Given the description of an element on the screen output the (x, y) to click on. 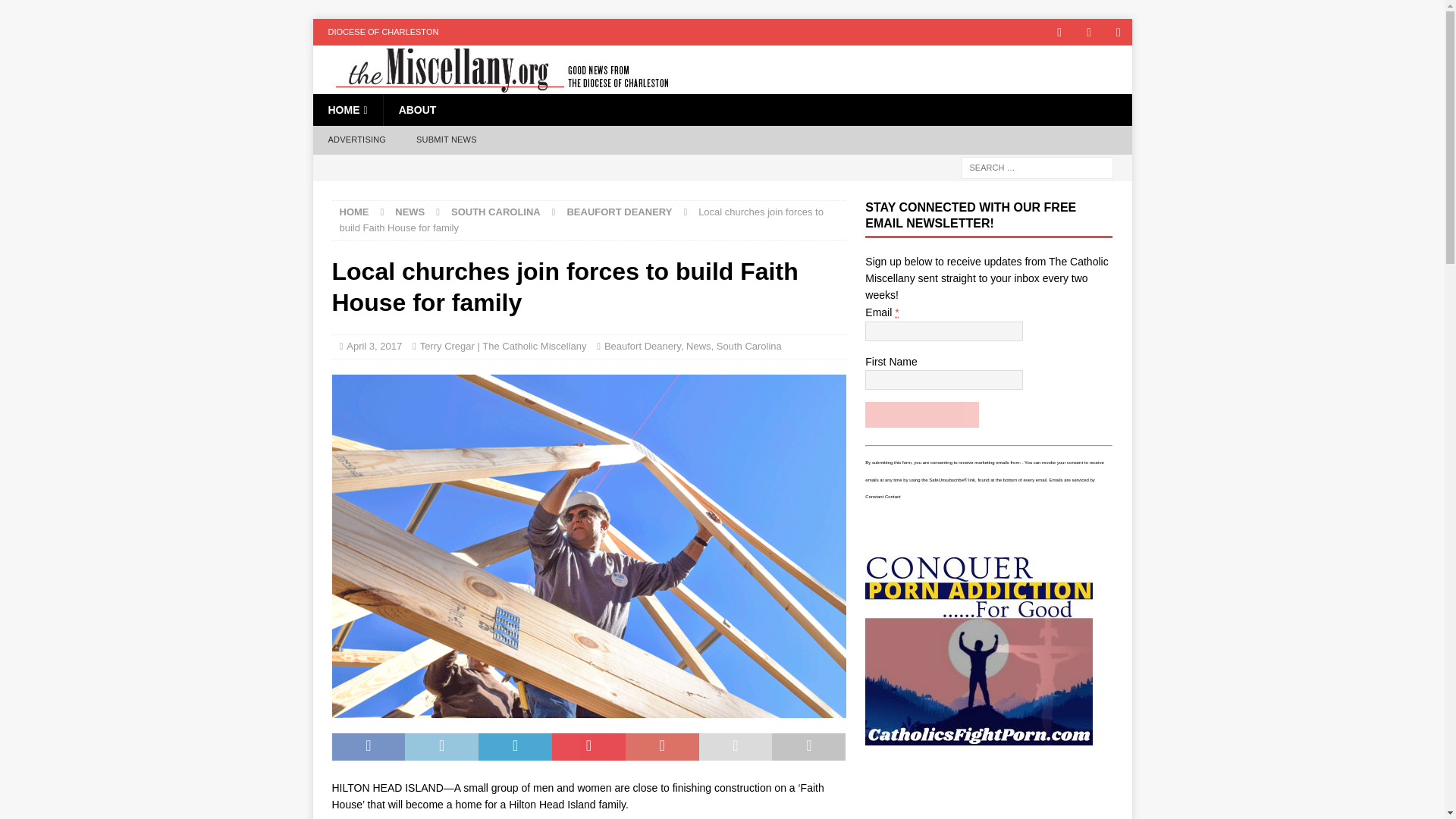
HOME (347, 110)
BEAUFORT DEANERY (618, 211)
ABOUT (416, 110)
April 3, 2017 (373, 346)
Join today! (921, 414)
Beaufort Deanery (642, 346)
NEWS (409, 211)
Search (56, 11)
ADVERTISING (357, 140)
HOME (354, 211)
News (698, 346)
DIOCESE OF CHARLESTON (382, 31)
SUBMIT NEWS (446, 140)
South Carolina (748, 346)
